Given the description of an element on the screen output the (x, y) to click on. 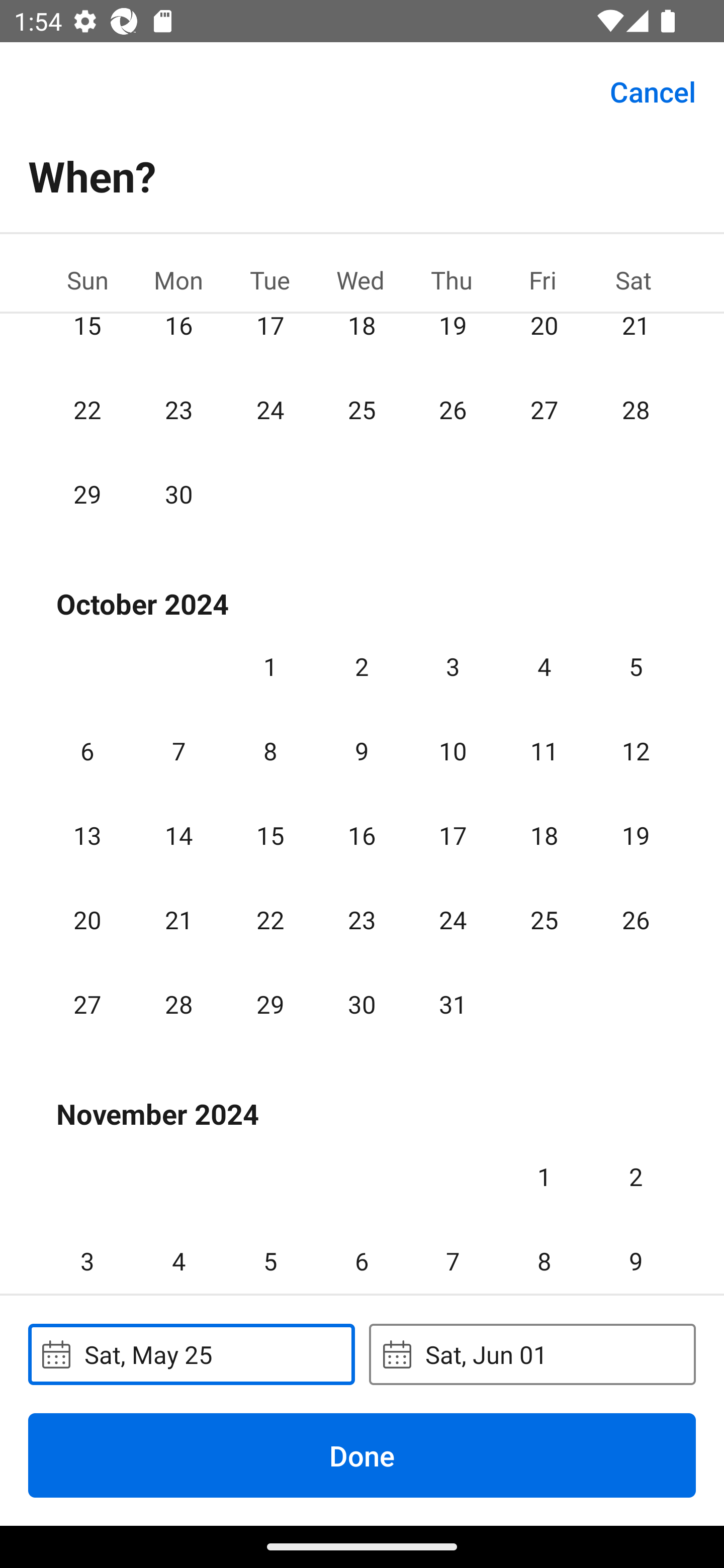
Cancel (652, 90)
Sat, May 25 (191, 1353)
Sat, Jun 01 (532, 1353)
Done (361, 1454)
